Given the description of an element on the screen output the (x, y) to click on. 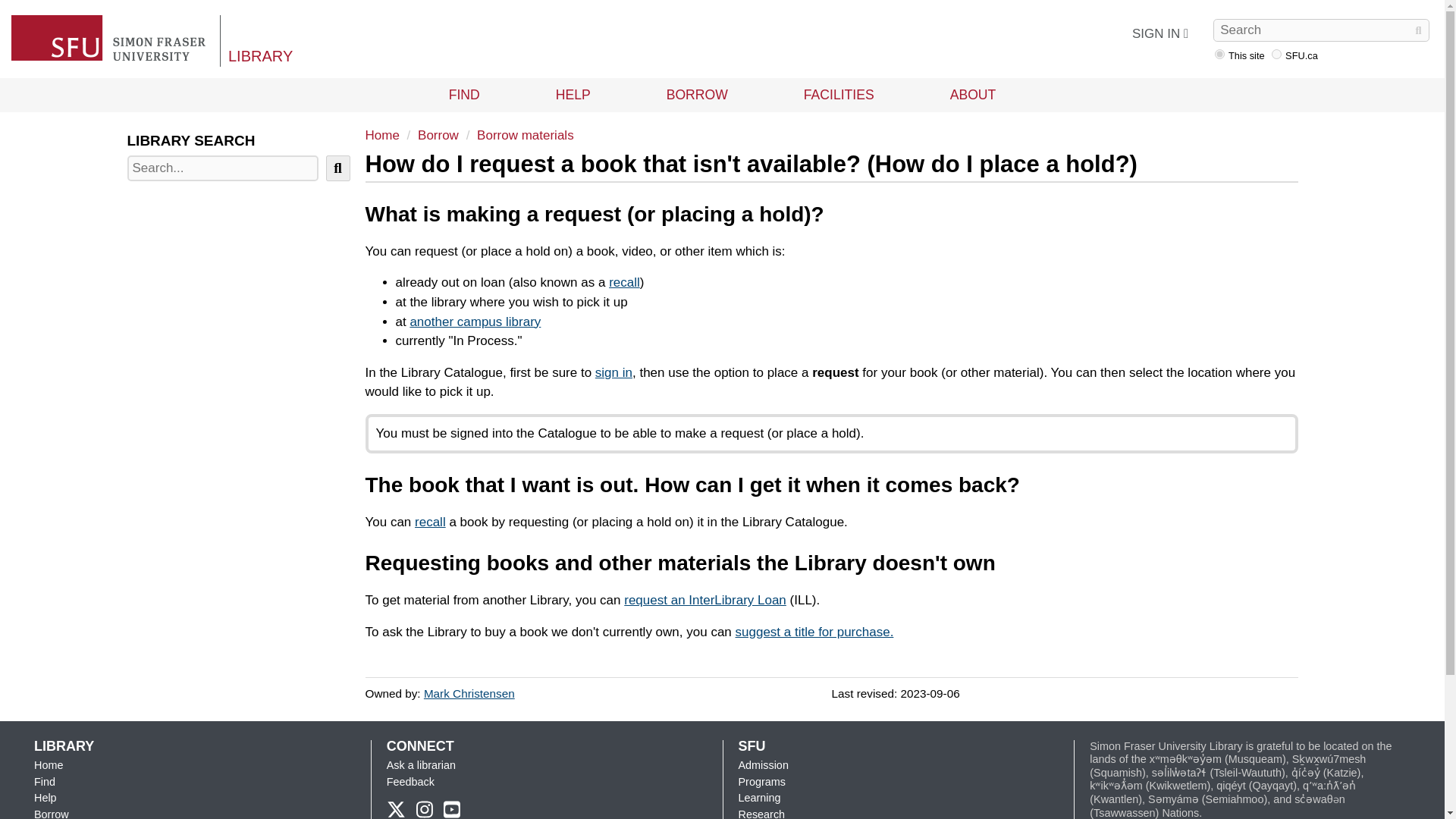
FIND (464, 94)
SIGN IN (1159, 33)
HELP (573, 94)
navbar-sfu (1276, 53)
View user profile. (469, 693)
navbar-library (1219, 53)
LIBRARY (260, 55)
